Given the description of an element on the screen output the (x, y) to click on. 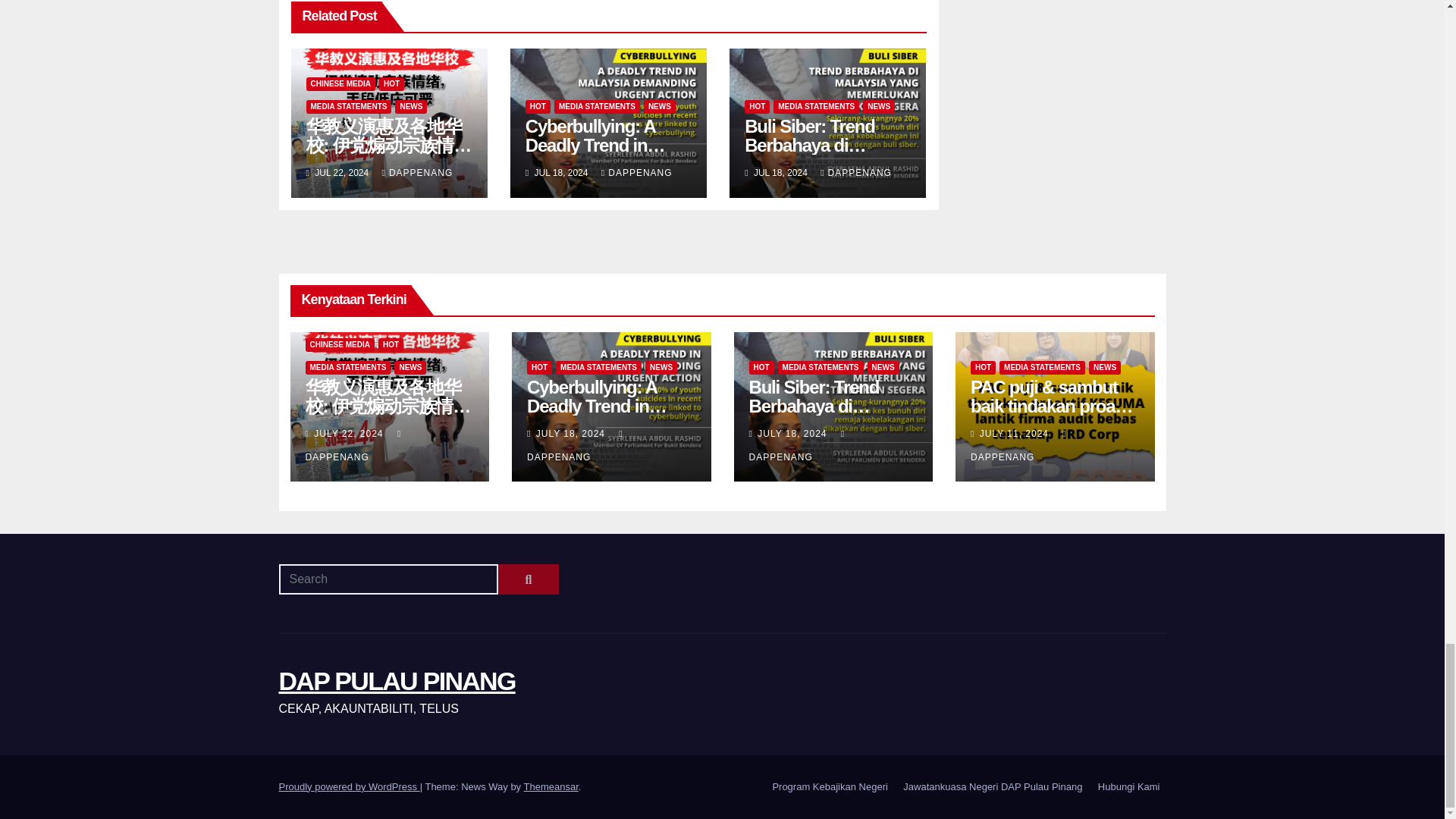
CHINESE MEDIA (340, 83)
NEWS (659, 106)
MEDIA STATEMENTS (348, 106)
HOT (391, 83)
Jawatankuasa Negeri DAP Pulau Pinang (991, 786)
MEDIA STATEMENTS (597, 106)
Hubungi Kami (1129, 786)
DAPPENANG (416, 172)
NEWS (410, 106)
Program Kebajikan Negeri (829, 786)
HOT (537, 106)
